Given the description of an element on the screen output the (x, y) to click on. 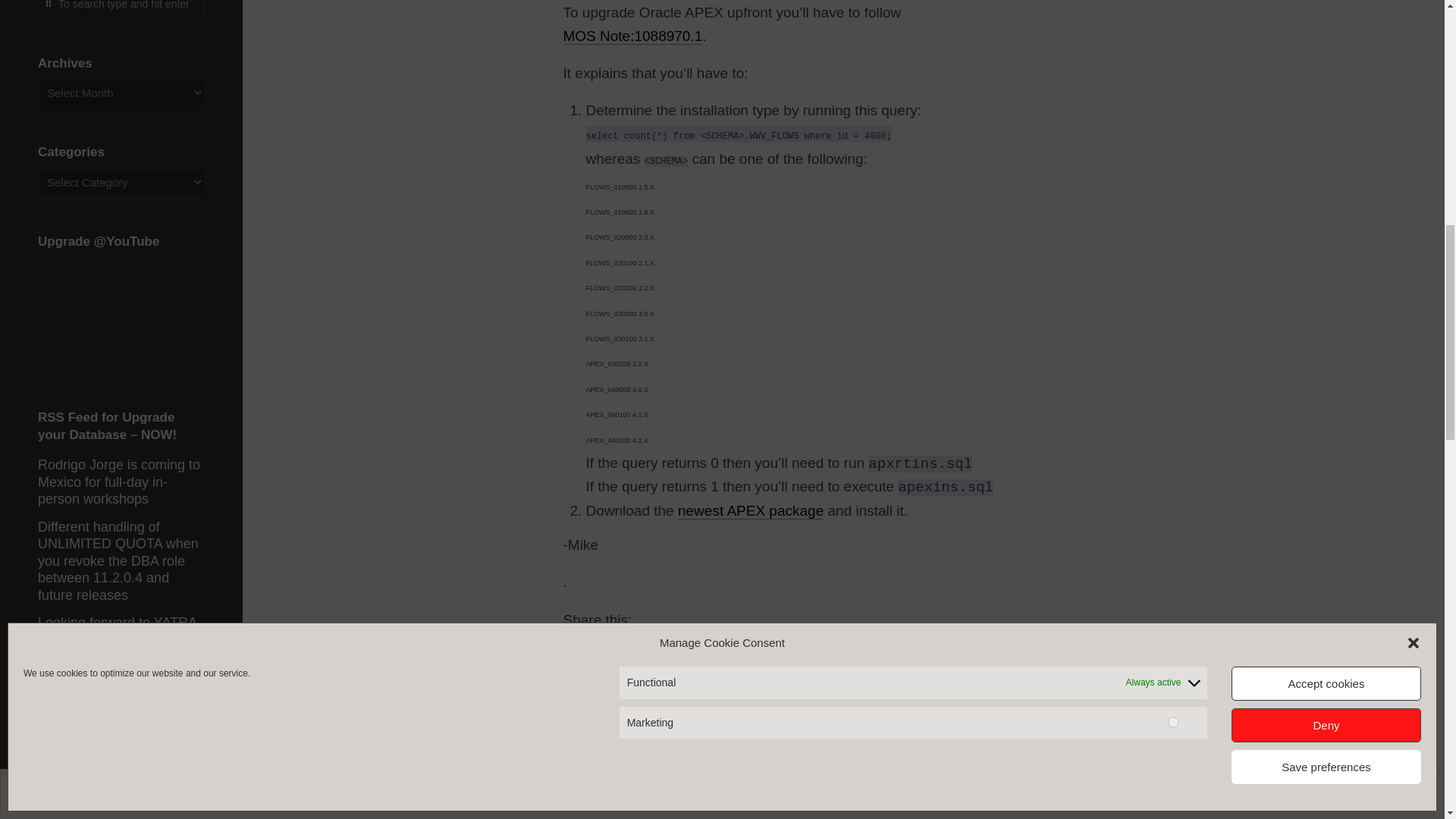
APEX Upgrade MOS Note (631, 35)
APEX Package Download (751, 510)
Upgrade downtime credited to APEX (623, 733)
Upgrade downtime credited to APEX (657, 768)
Share on LinkedIn (629, 644)
To search type and hit enter (121, 8)
To search type and hit enter (121, 8)
Share on Facebook (601, 644)
Send by email (655, 644)
Share on X (576, 644)
